Given the description of an element on the screen output the (x, y) to click on. 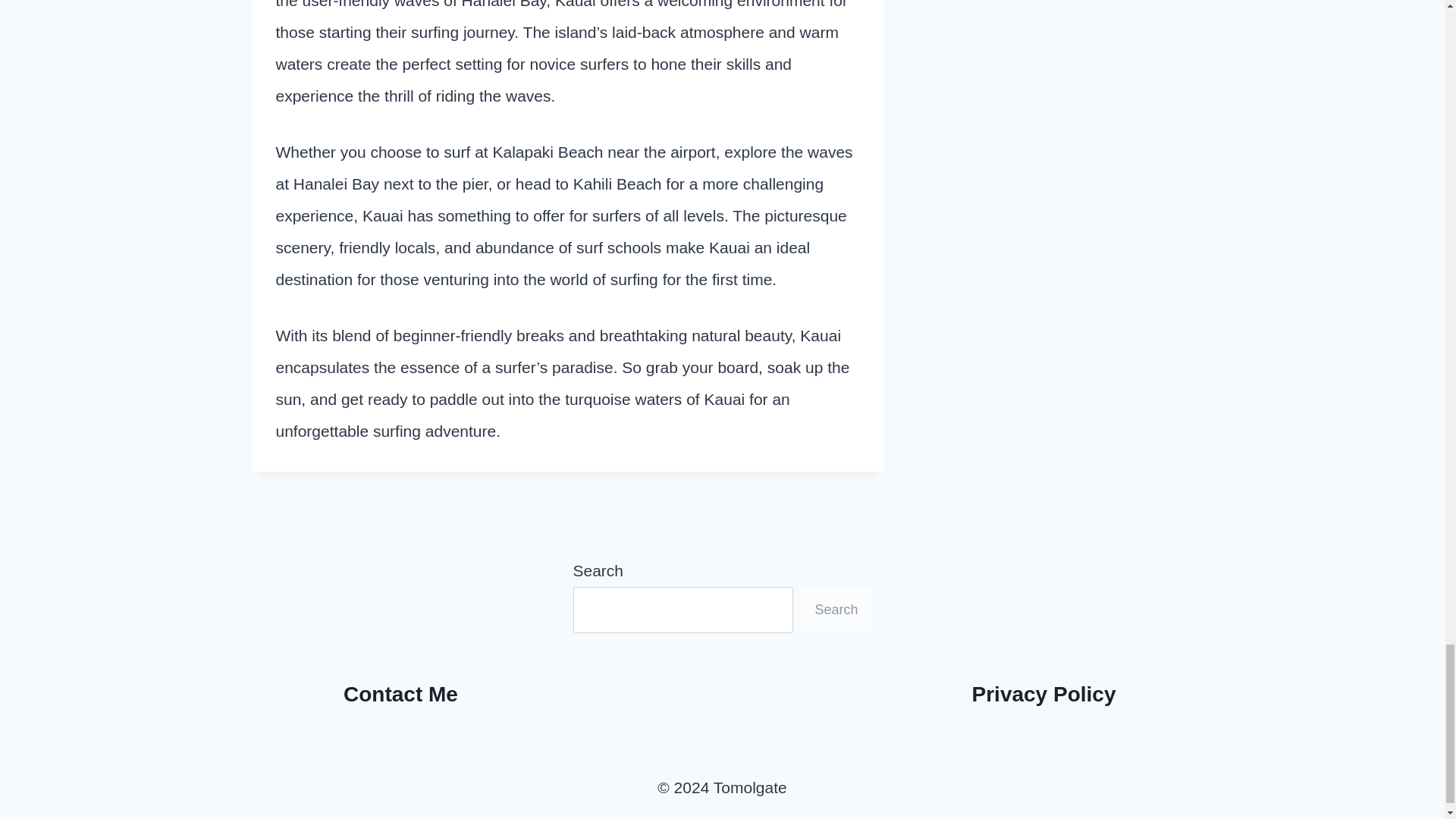
Contact Me (400, 693)
Privacy Policy (1044, 693)
Search (835, 610)
